Given the description of an element on the screen output the (x, y) to click on. 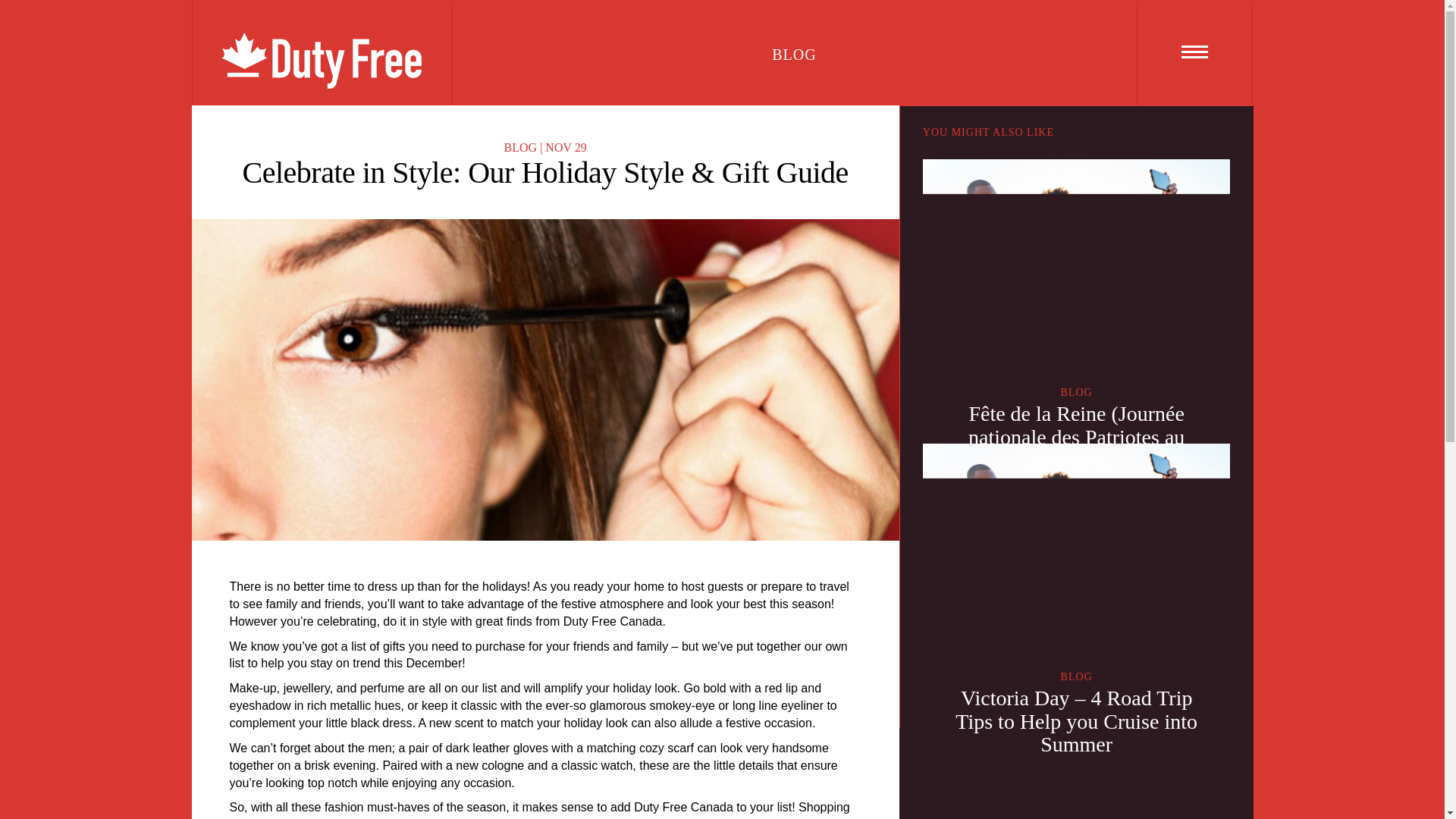
View all posts in Blog (520, 146)
BLOG (1077, 392)
BLOG (520, 146)
View all posts in Blog (1077, 676)
View all posts in Blog (1077, 392)
BLOG (1077, 676)
BLOG (721, 53)
